Given the description of an element on the screen output the (x, y) to click on. 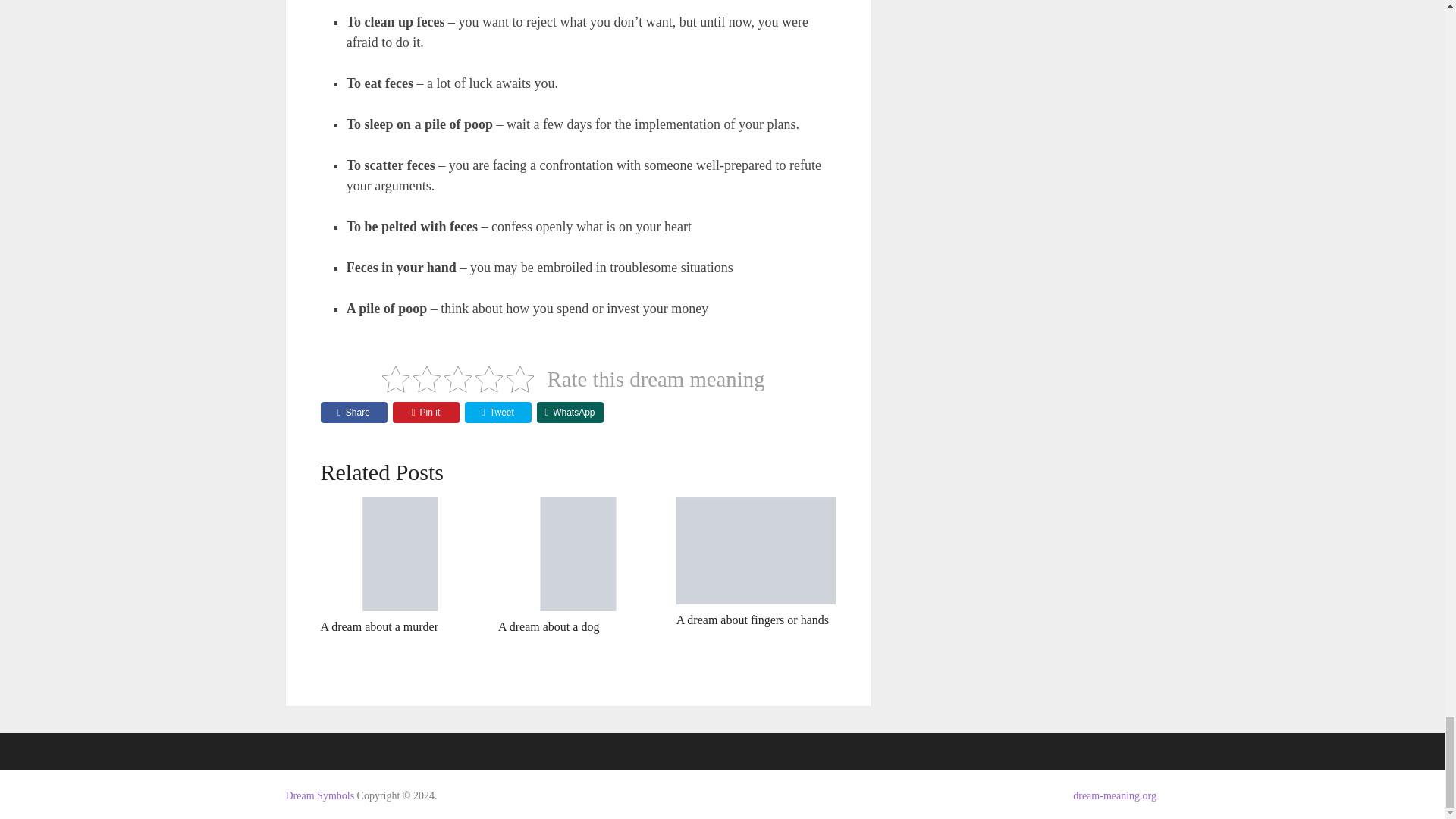
A dream about a murder (379, 626)
A dream about a murder (400, 553)
A dream about a dog (577, 553)
A dream about a dog (547, 626)
A dream about fingers or hands (752, 619)
A dream about fingers or hands (756, 550)
